Given the description of an element on the screen output the (x, y) to click on. 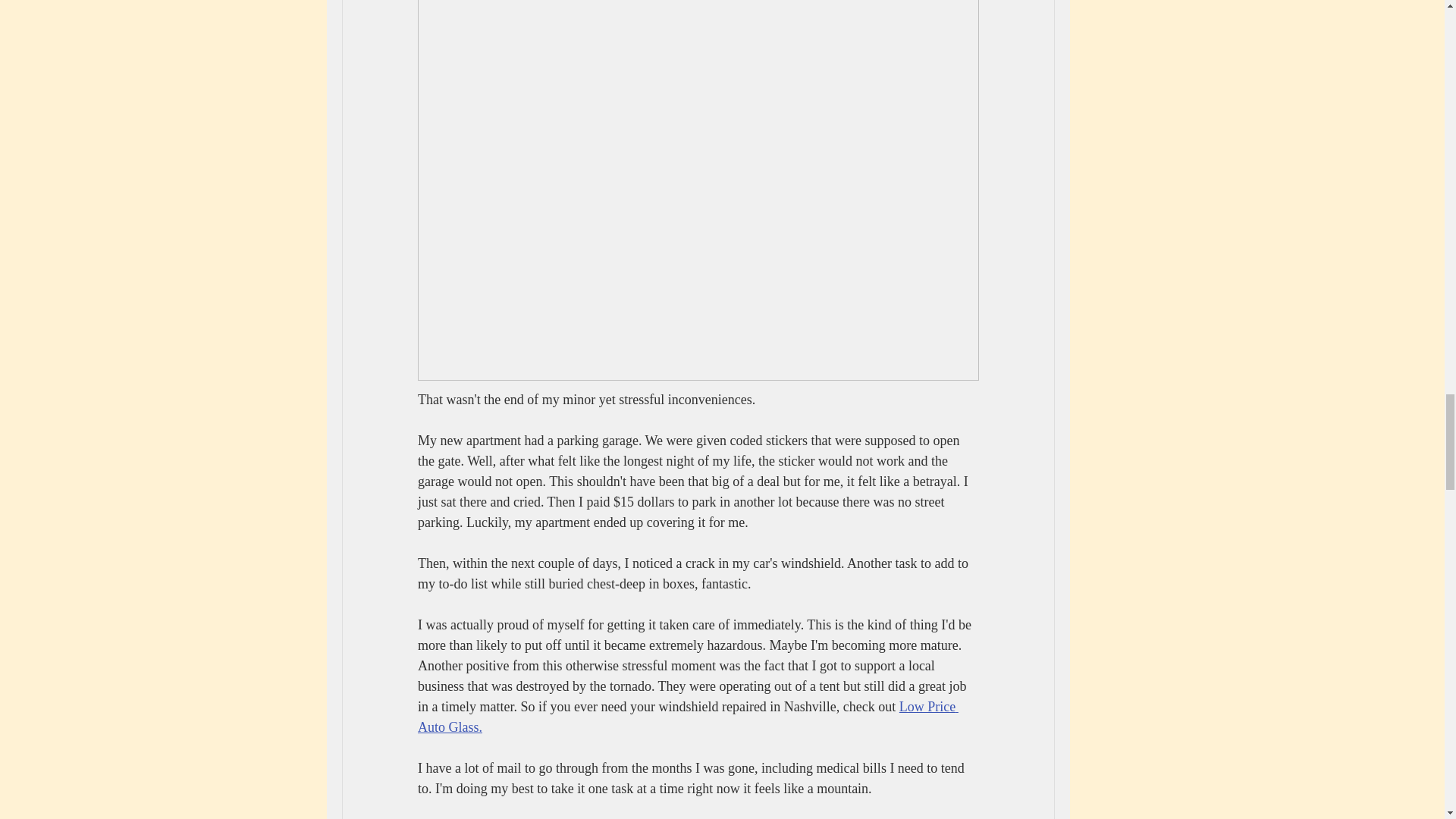
Low Price Auto Glass. (687, 716)
